Given the description of an element on the screen output the (x, y) to click on. 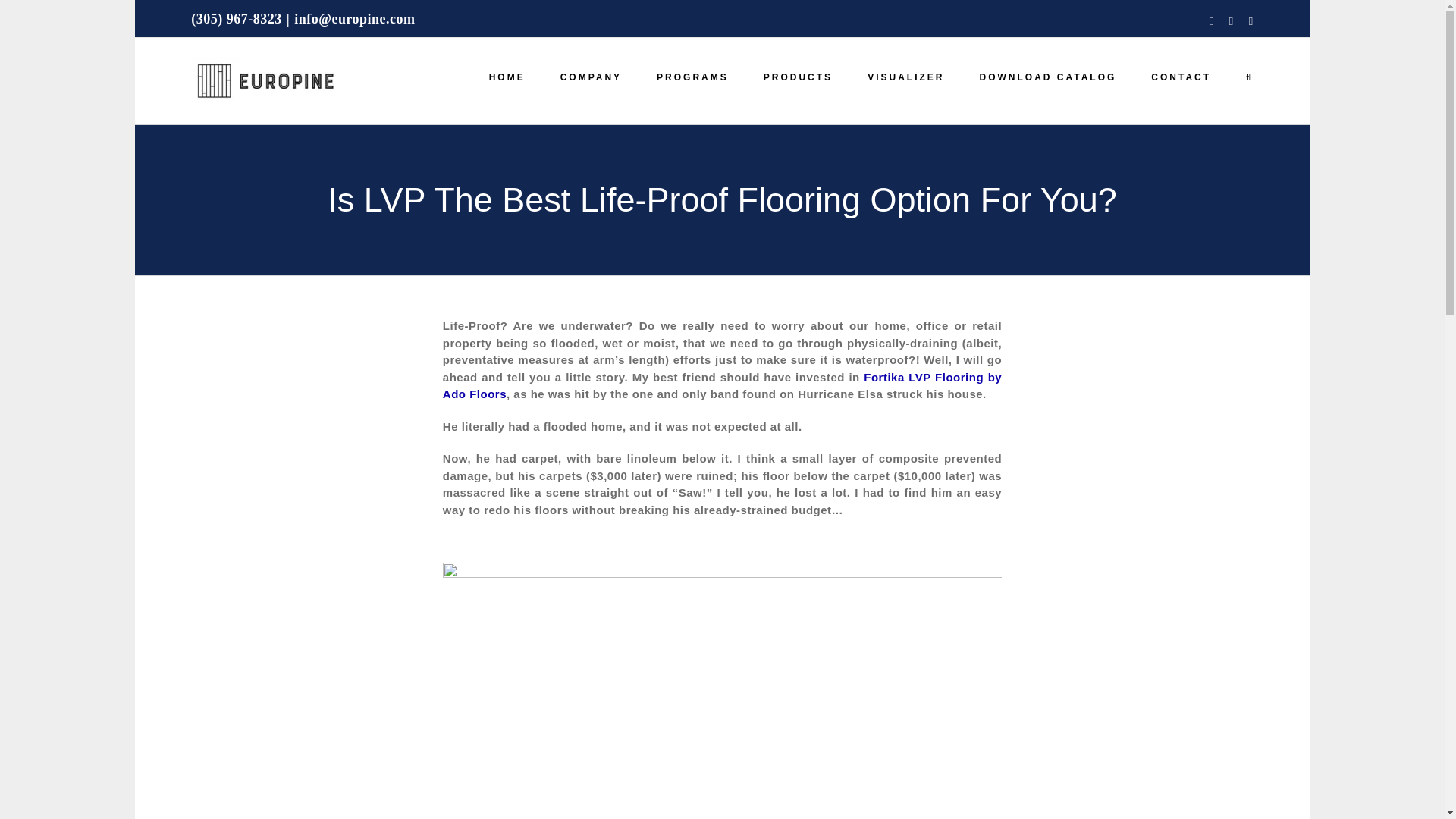
DOWNLOAD CATALOG (1047, 76)
VISUALIZER (905, 76)
PRODUCTS (797, 76)
PROGRAMS (692, 76)
COMPANY (590, 76)
CONTACT (1181, 76)
